Given the description of an element on the screen output the (x, y) to click on. 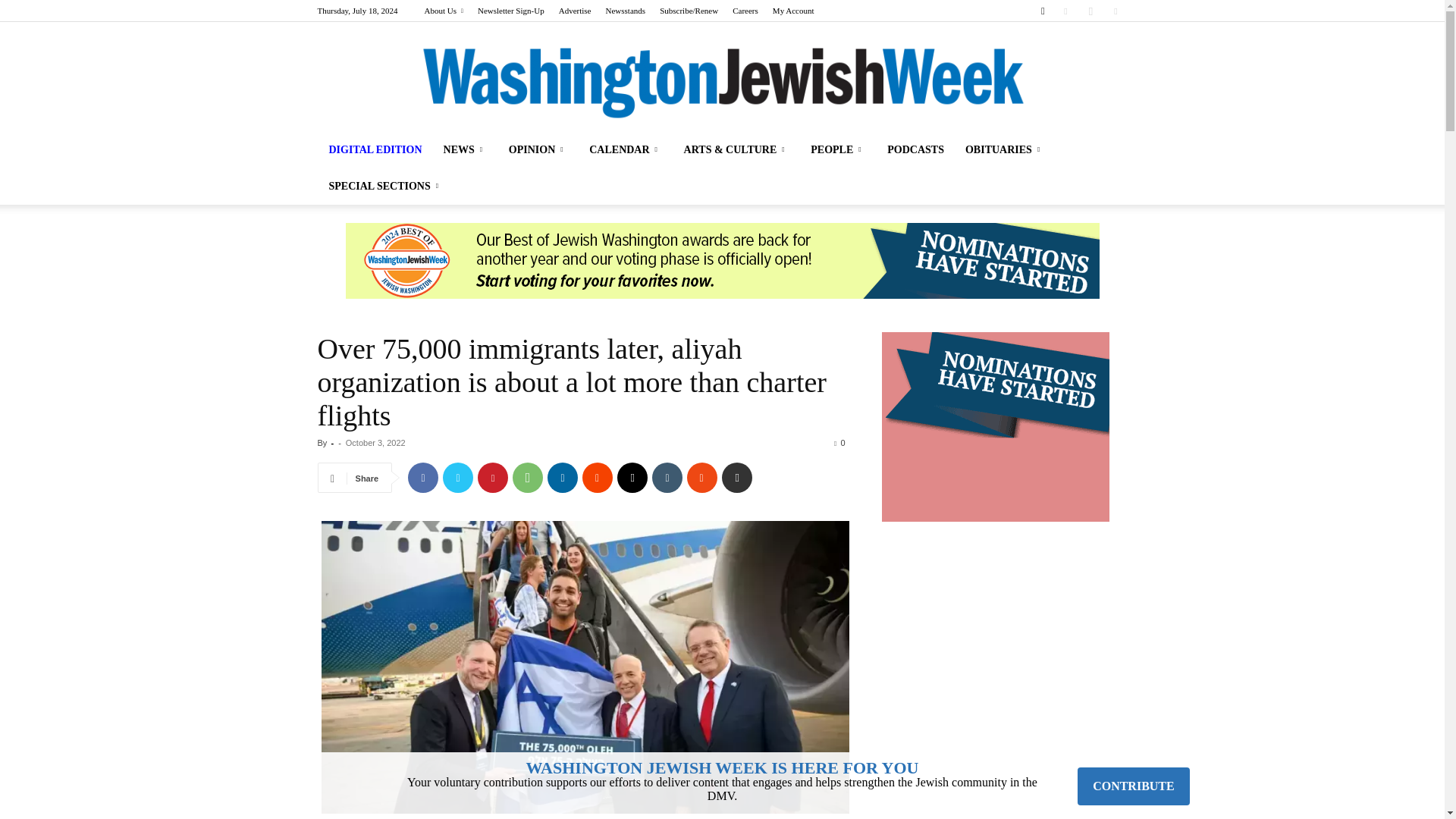
WhatsApp (527, 477)
Email (632, 477)
Twitter (457, 477)
Tumblr (667, 477)
Instagram (1090, 10)
Facebook (422, 477)
Pinterest (492, 477)
ReddIt (597, 477)
Facebook (1065, 10)
Linkedin (562, 477)
Twitter (1114, 10)
Washington Jewish Week (722, 83)
